Given the description of an element on the screen output the (x, y) to click on. 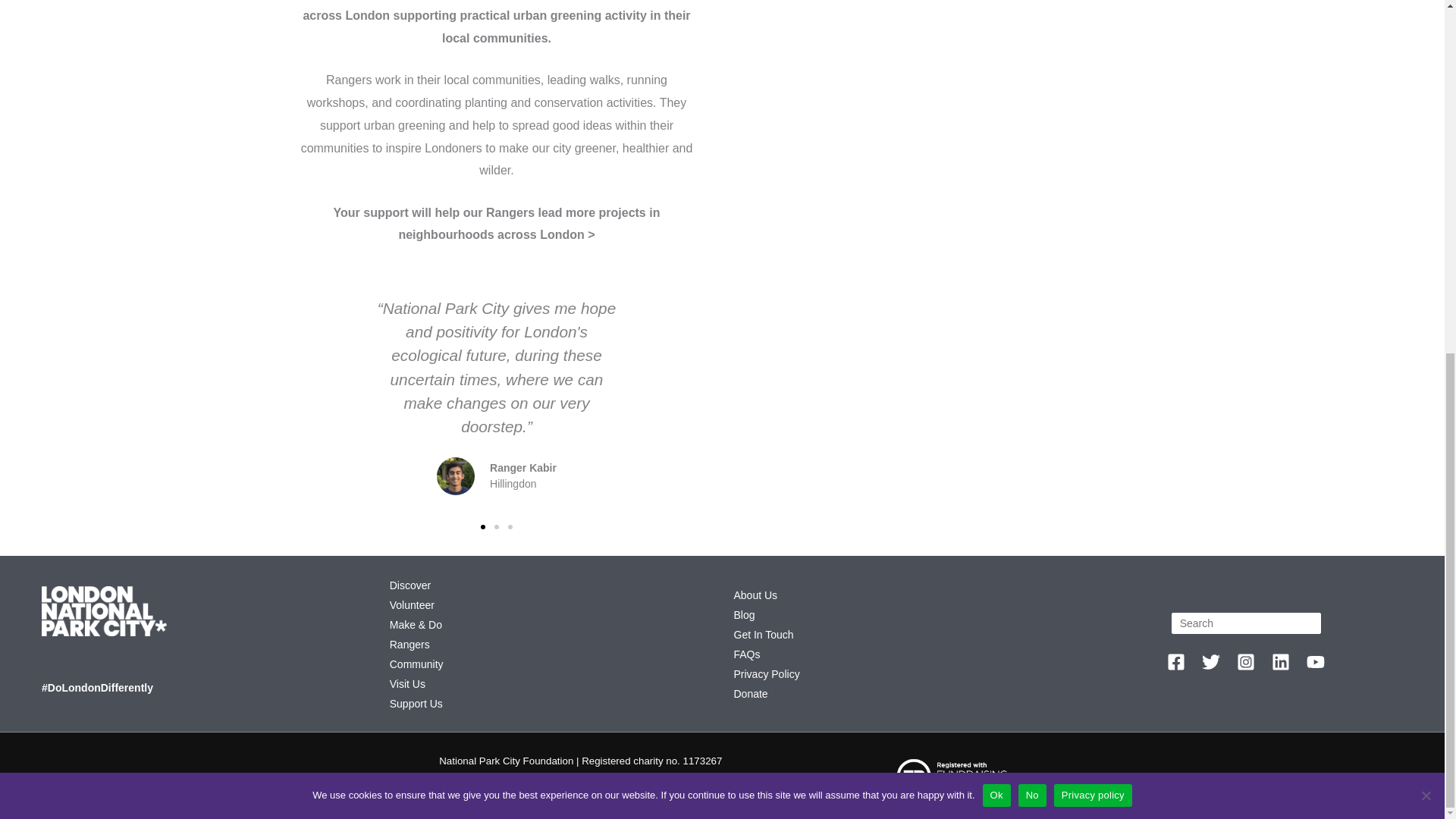
No (1425, 178)
Discover (410, 585)
